Given the description of an element on the screen output the (x, y) to click on. 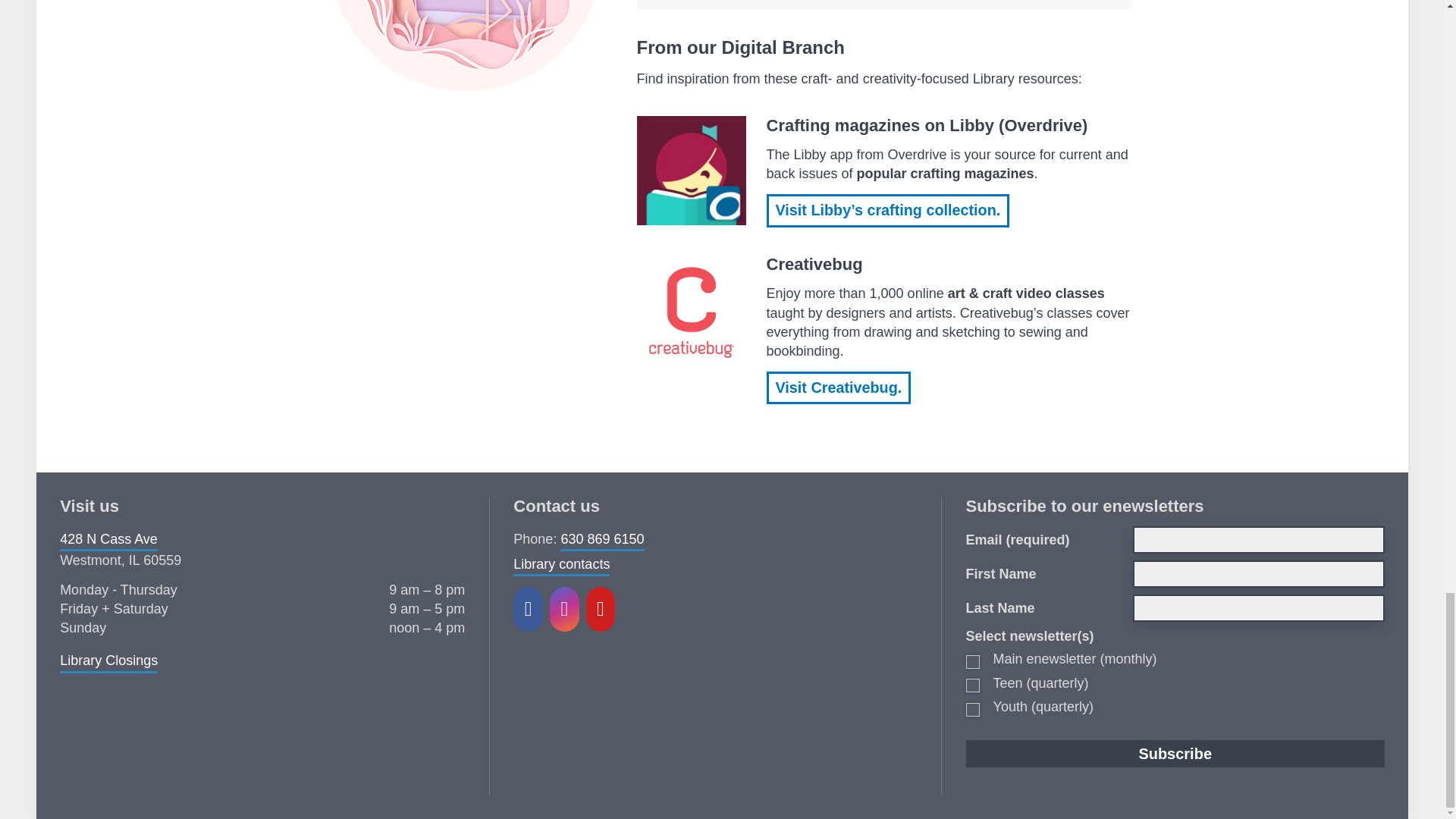
1 (972, 662)
view library address on map (108, 538)
4 (972, 685)
Subscribe (1175, 753)
8 (972, 709)
